Given the description of an element on the screen output the (x, y) to click on. 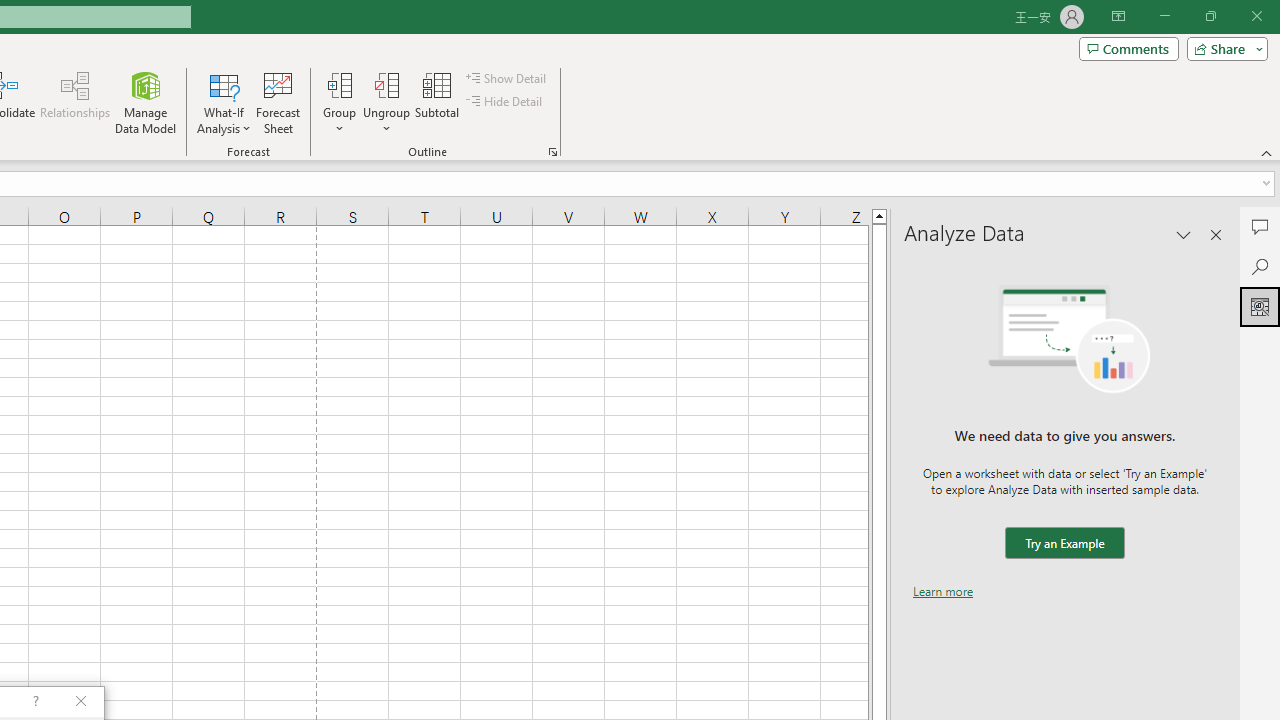
Forecast Sheet (278, 102)
Relationships (75, 102)
Group and Outline Settings (552, 151)
Subtotal (437, 102)
Hide Detail (505, 101)
